Given the description of an element on the screen output the (x, y) to click on. 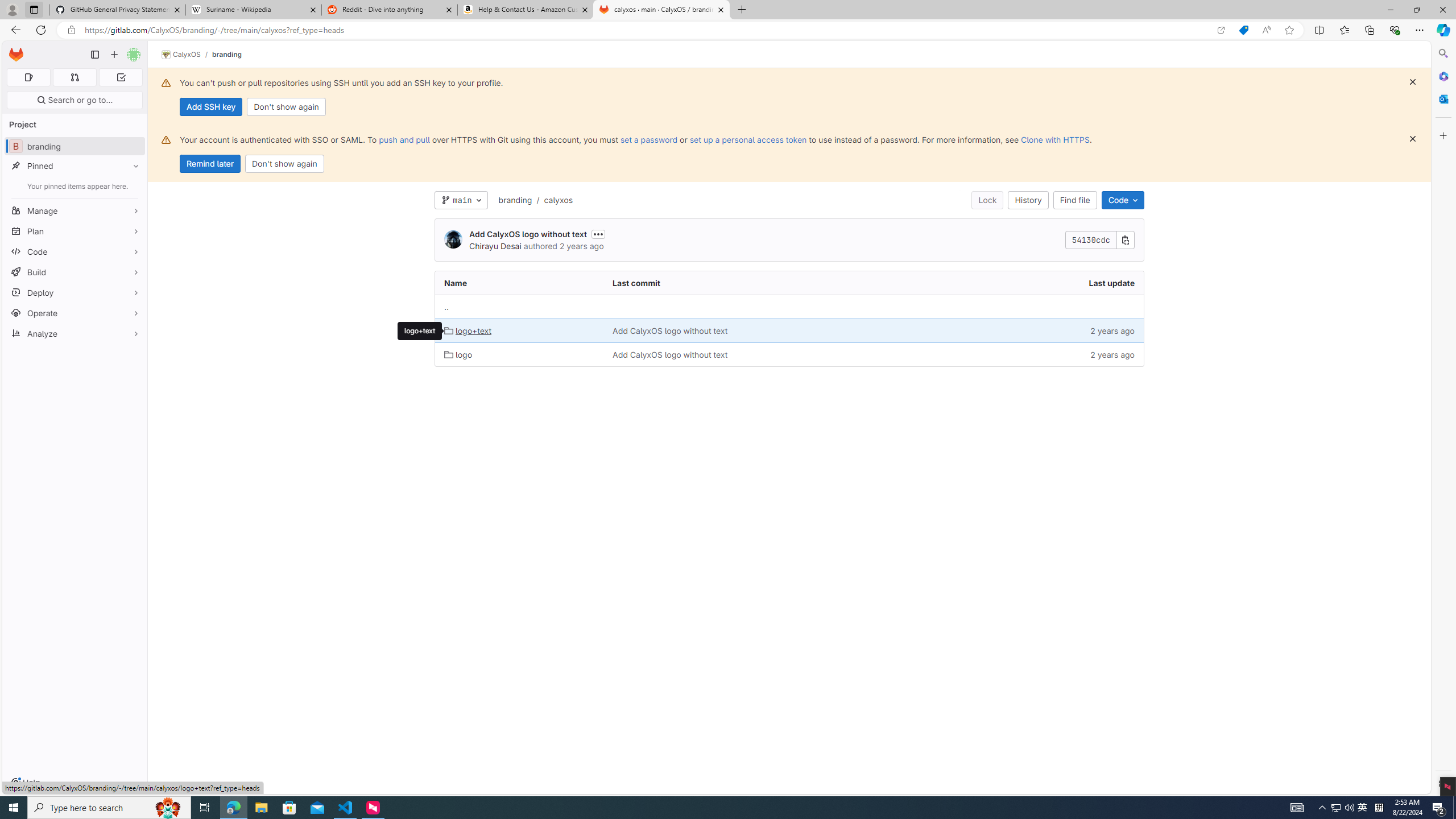
Assigned issues 0 (28, 76)
Build (74, 271)
Build (74, 271)
branding (514, 199)
Operate (74, 312)
Don't show again (284, 163)
Deploy (74, 292)
Create new... (113, 54)
Plan (74, 230)
Remind later (210, 163)
